Given the description of an element on the screen output the (x, y) to click on. 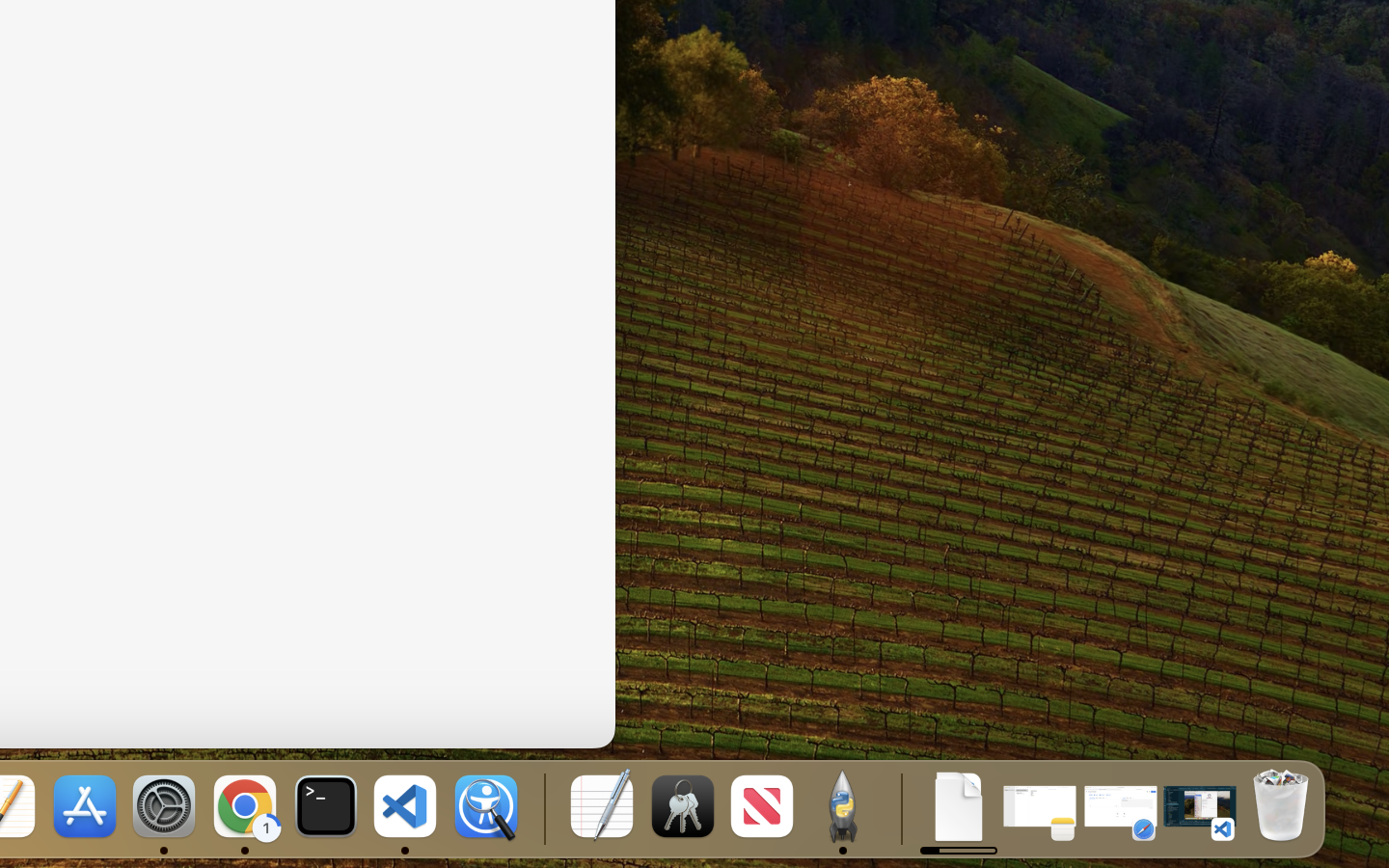
0.4285714328289032 Element type: AXDockItem (541, 807)
